Given the description of an element on the screen output the (x, y) to click on. 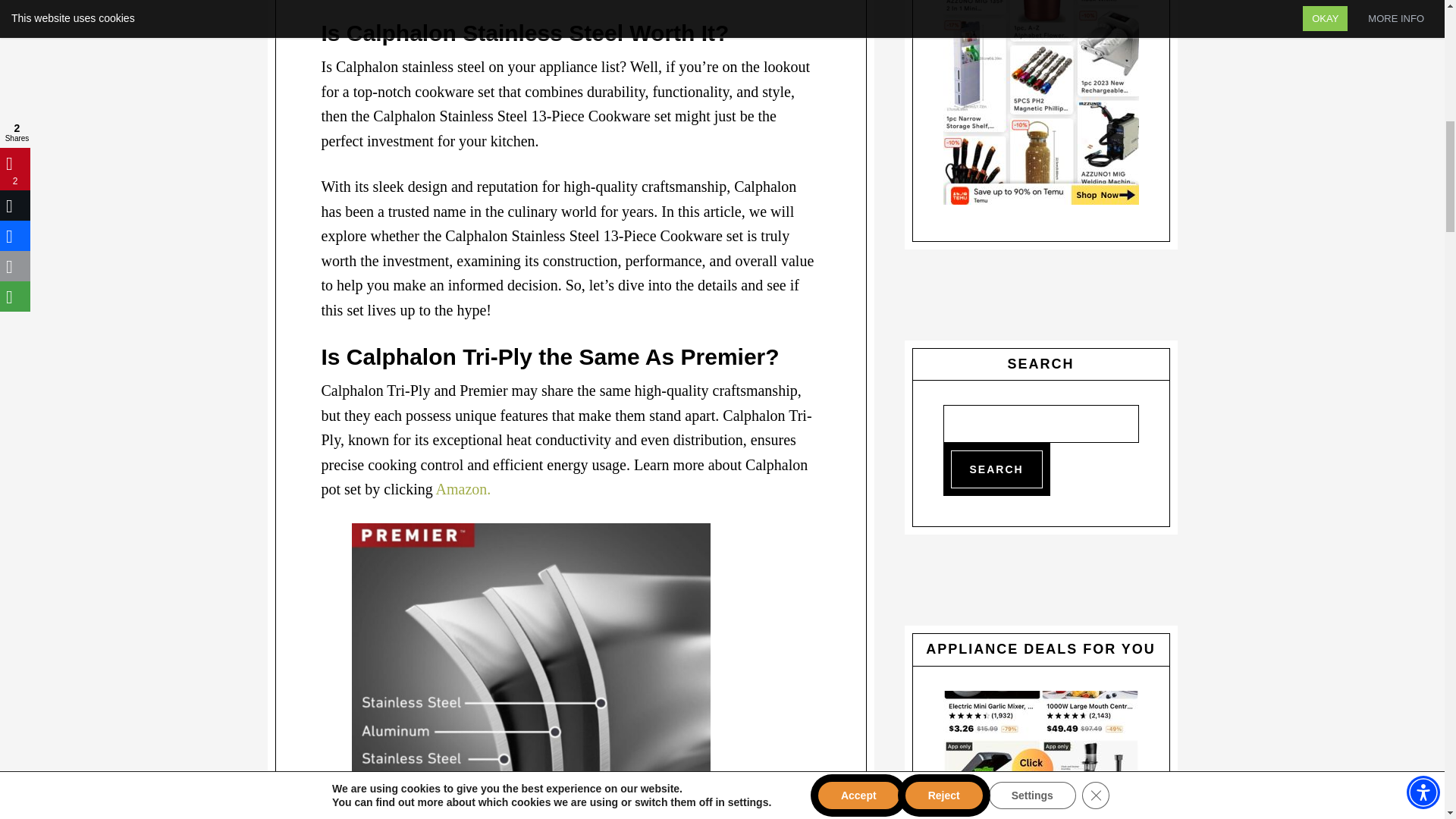
Search (996, 469)
Amazon. (463, 488)
Search (996, 469)
